Given the description of an element on the screen output the (x, y) to click on. 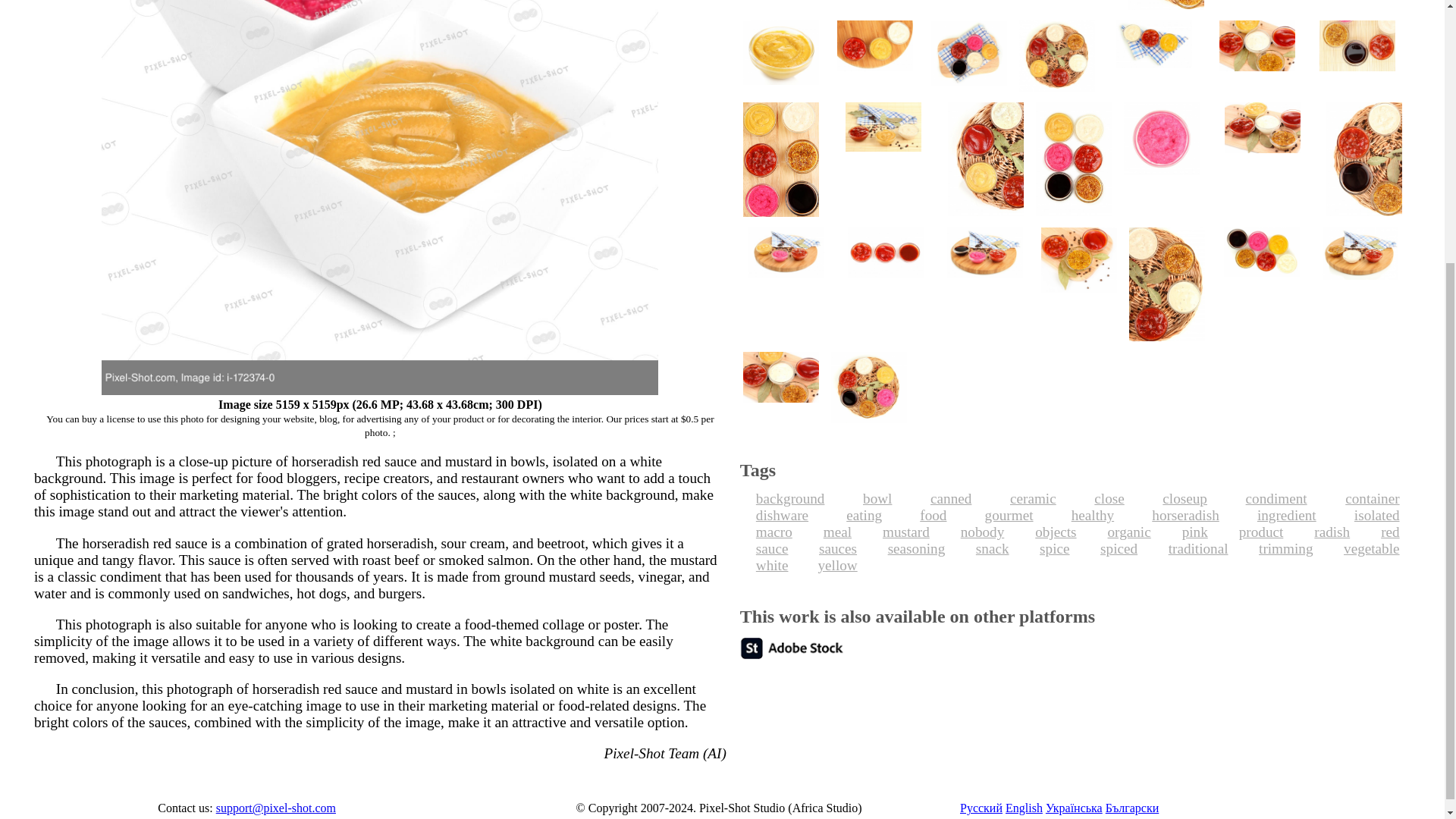
Various sauces isolated on white (781, 7)
Various sauces on bamboo mat (877, 7)
Various sauces on wicker mat (1166, 7)
Various sauces on chopping board isolated on white (1262, 7)
Tasty ketchup in bowl isolated on white (1070, 7)
Various sauces on chopping board isolated on white (974, 7)
Various sauces on wicker mat isolated on white (1361, 7)
